Given the description of an element on the screen output the (x, y) to click on. 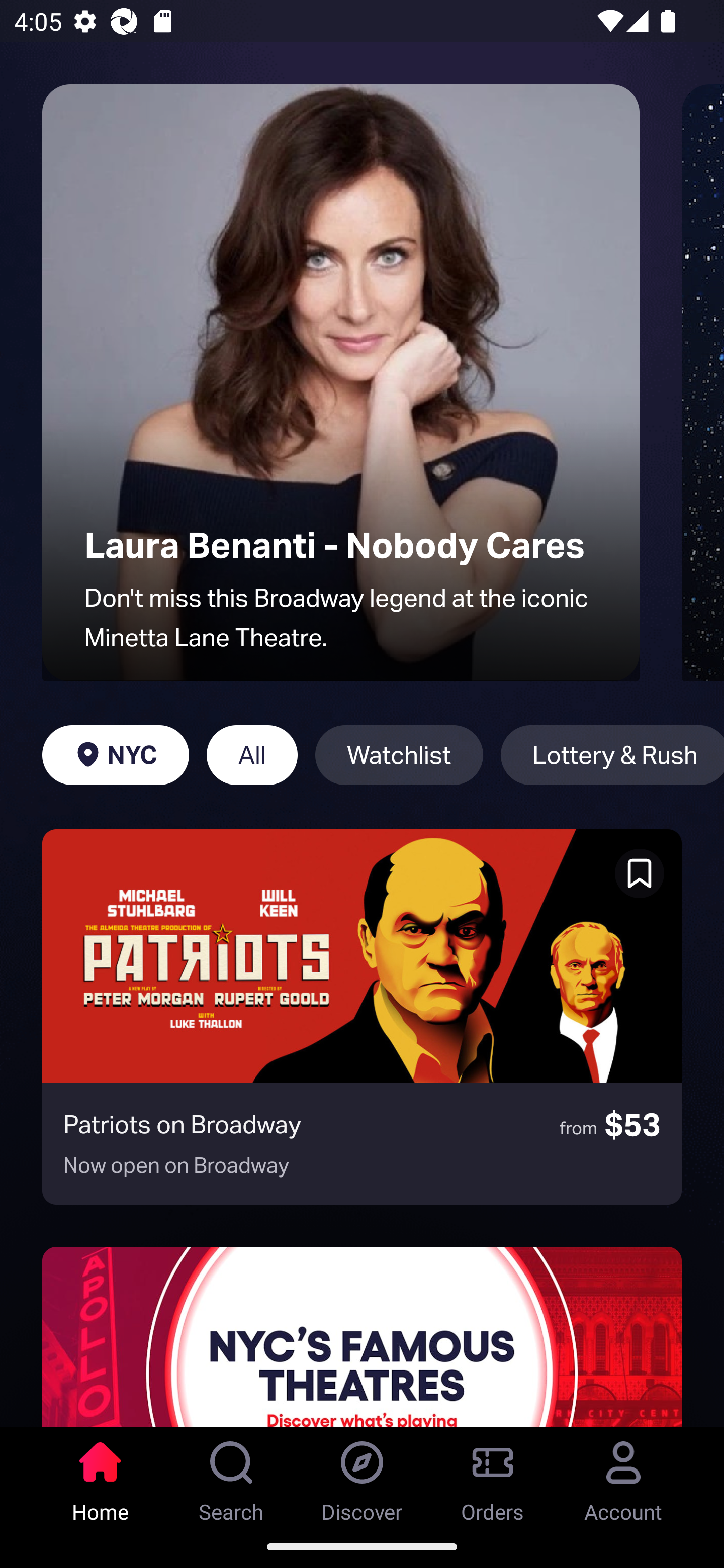
NYC (114, 754)
All (251, 754)
Watchlist (398, 754)
Lottery & Rush (612, 754)
Patriots on Broadway from $53 Now open on Broadway (361, 1016)
Search (230, 1475)
Discover (361, 1475)
Orders (492, 1475)
Account (623, 1475)
